Given the description of an element on the screen output the (x, y) to click on. 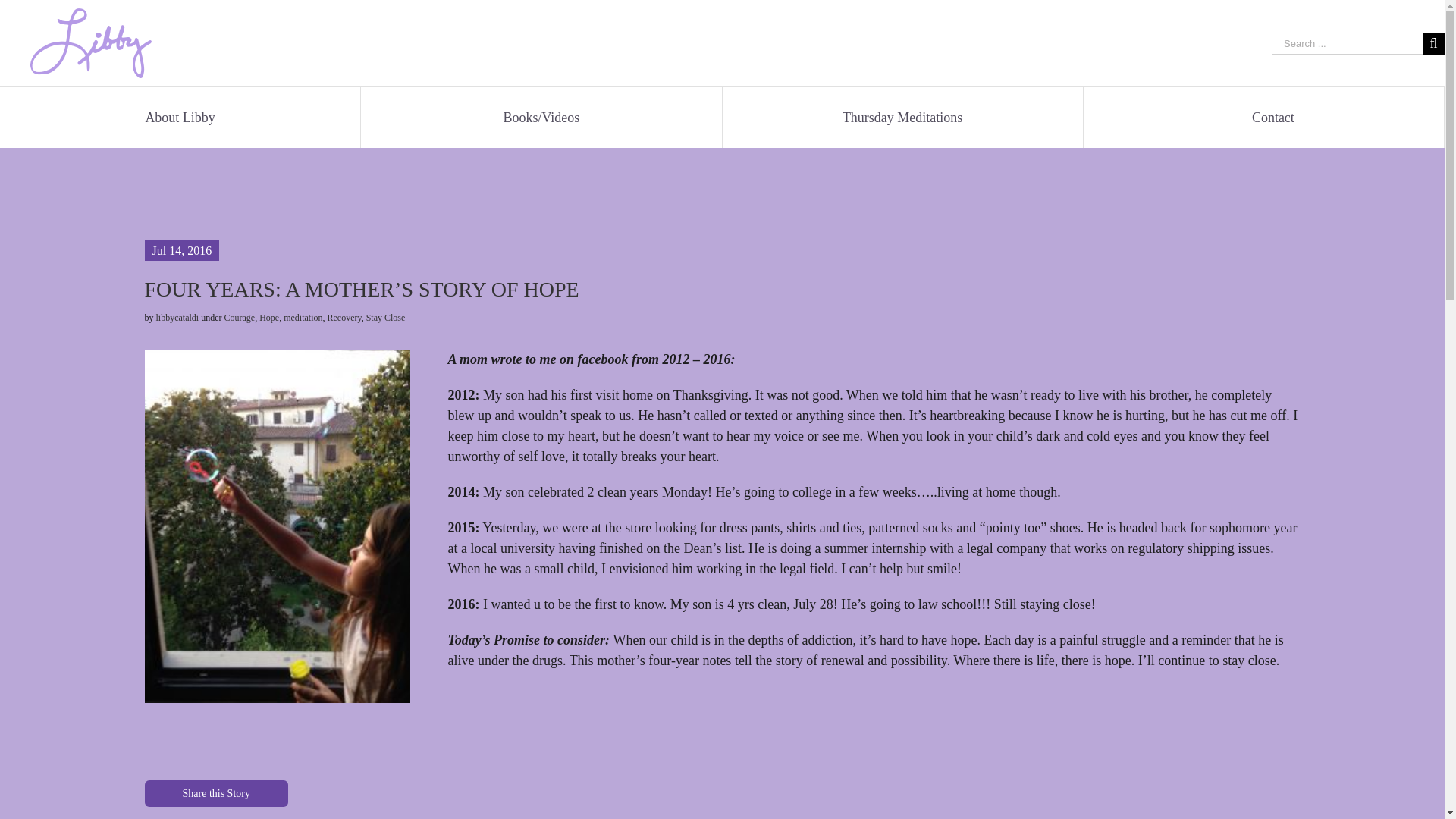
Courage (239, 317)
Hope (269, 317)
libbycataldi (177, 317)
About Libby (179, 117)
Thursday Meditations (902, 117)
Stay Close (386, 317)
Recovery (343, 317)
meditation (302, 317)
Contact (1273, 117)
